Given the description of an element on the screen output the (x, y) to click on. 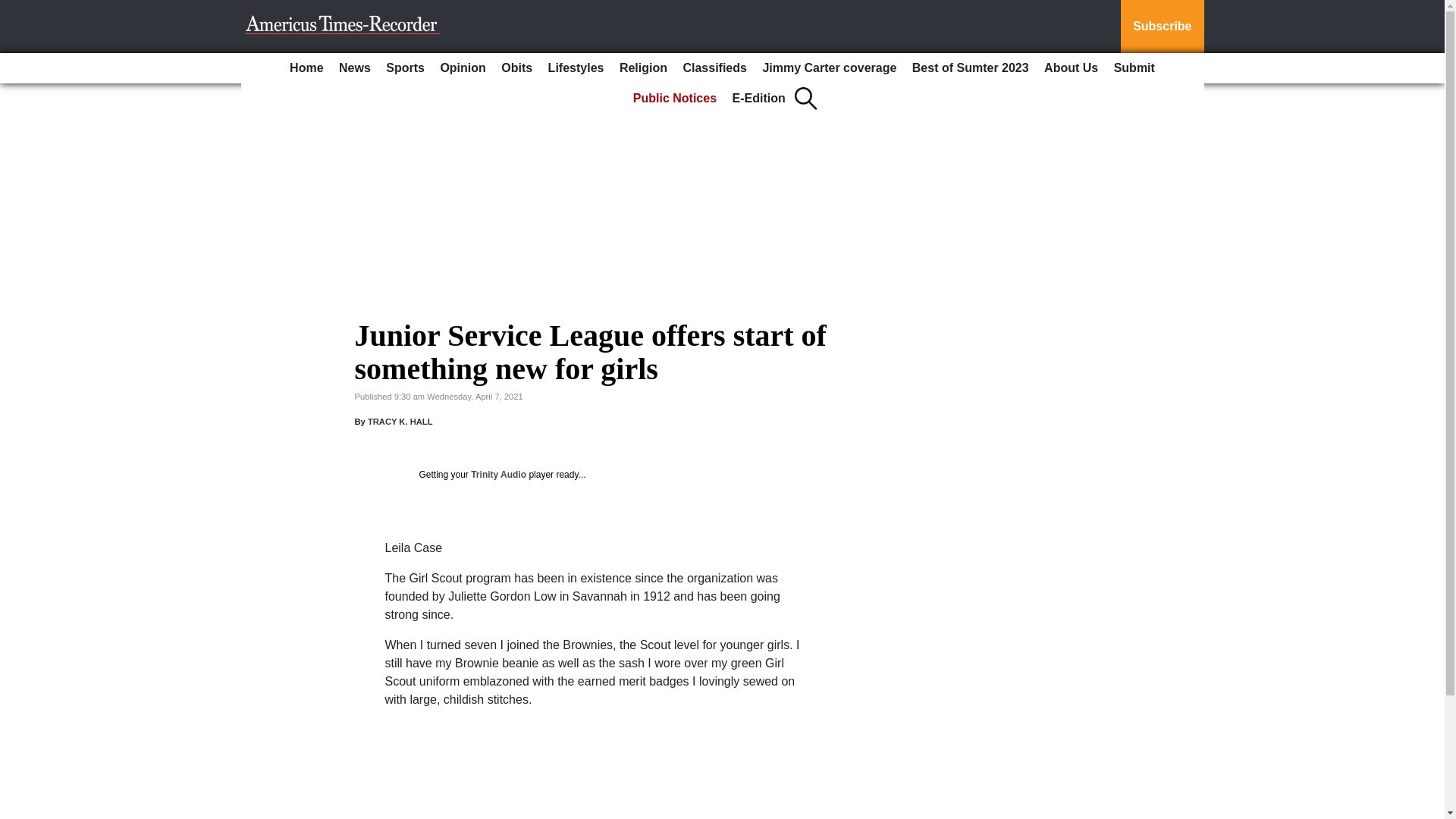
Religion (642, 68)
News (355, 68)
TRACY K. HALL (400, 420)
Jimmy Carter coverage (828, 68)
Opinion (462, 68)
Sports (405, 68)
E-Edition (759, 98)
About Us (1070, 68)
Go (13, 9)
Subscribe (1162, 26)
